Given the description of an element on the screen output the (x, y) to click on. 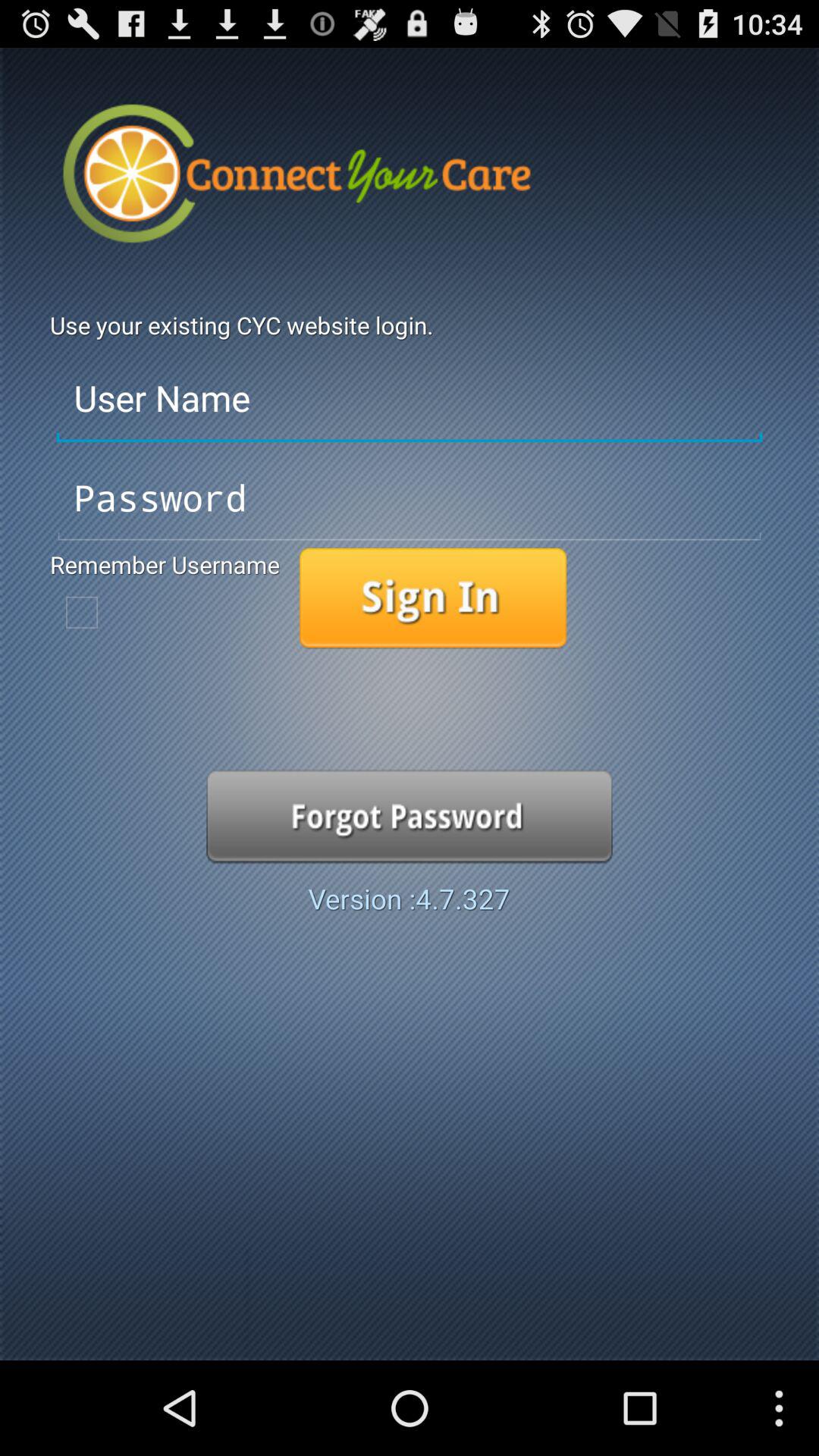
he can activate the simple voice command (432, 598)
